Given the description of an element on the screen output the (x, y) to click on. 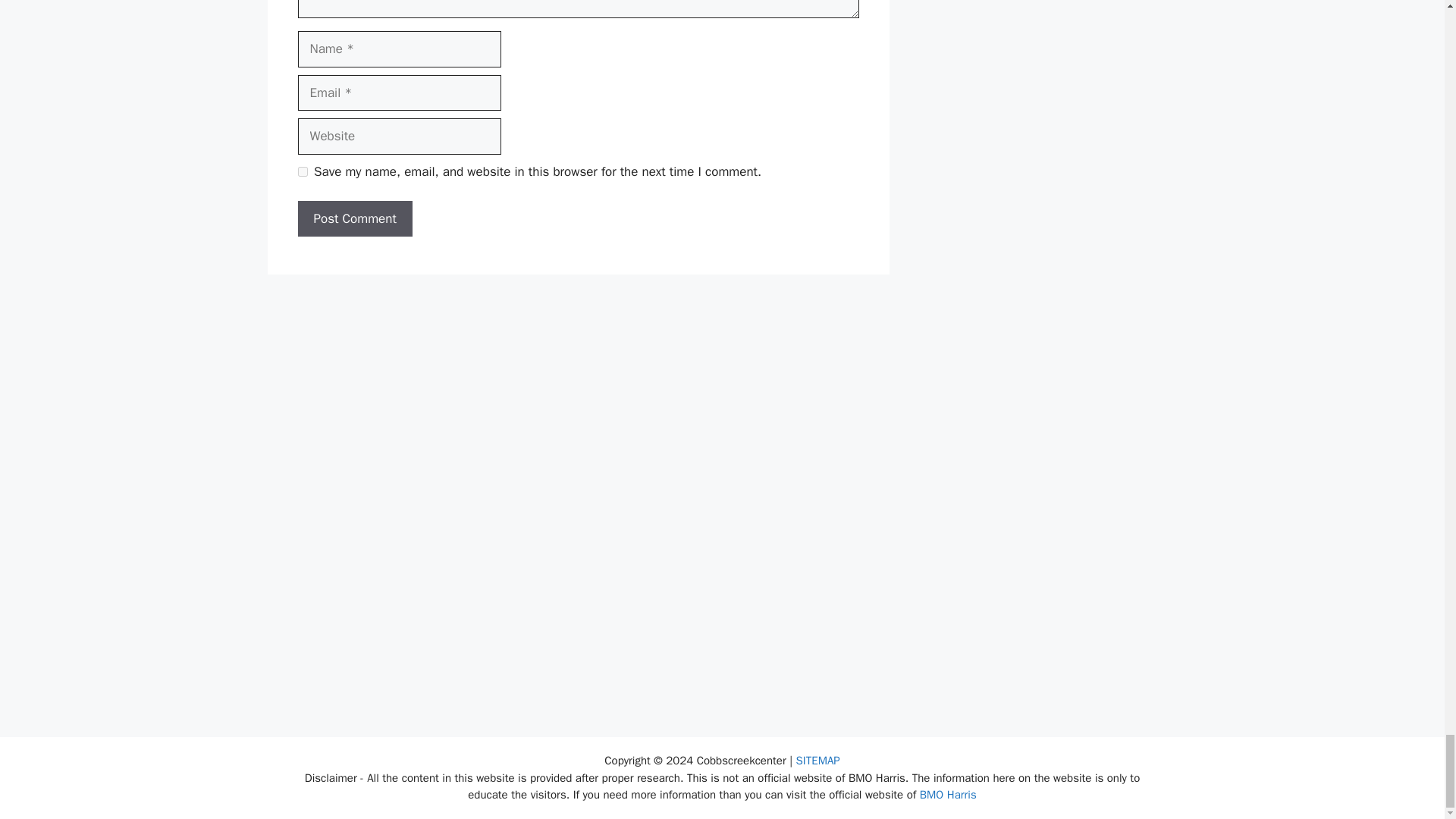
Post Comment (354, 218)
yes (302, 171)
